Given the description of an element on the screen output the (x, y) to click on. 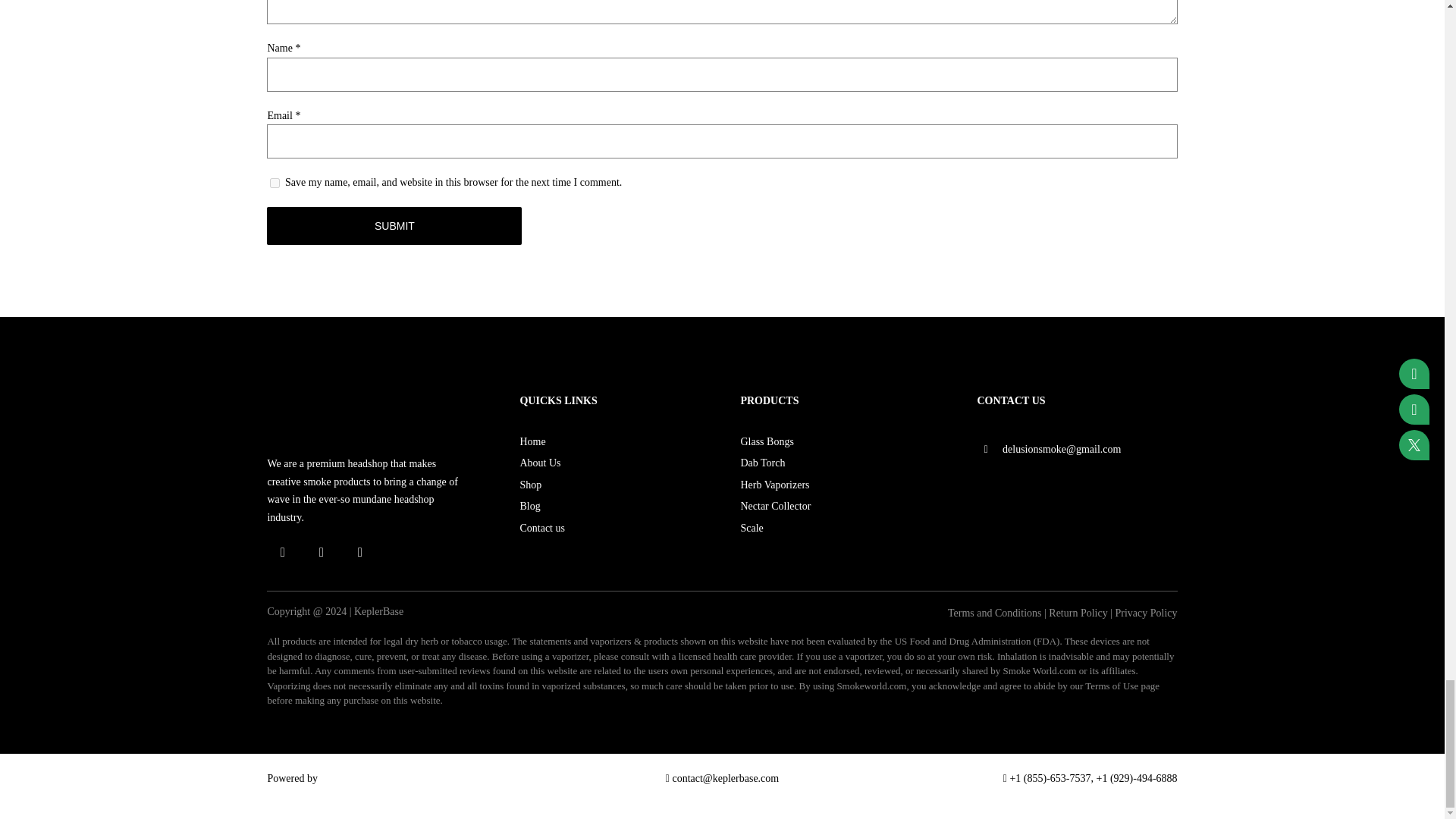
Submit (393, 226)
Facebook (282, 552)
Instagram (359, 552)
X (320, 552)
yes (274, 183)
payment cards (1076, 493)
